Given the description of an element on the screen output the (x, y) to click on. 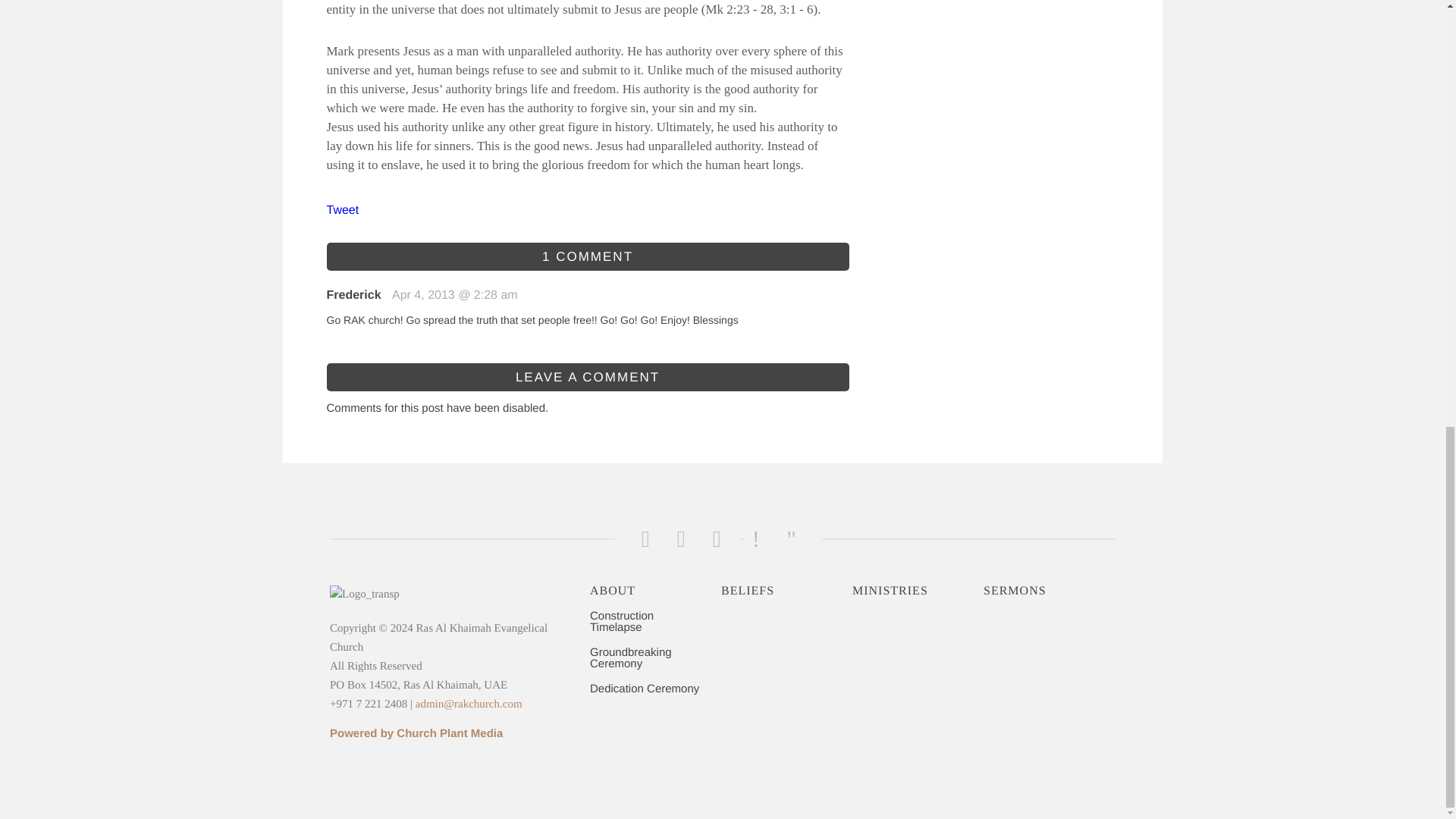
Tweet (342, 210)
Frederick (353, 295)
